Given the description of an element on the screen output the (x, y) to click on. 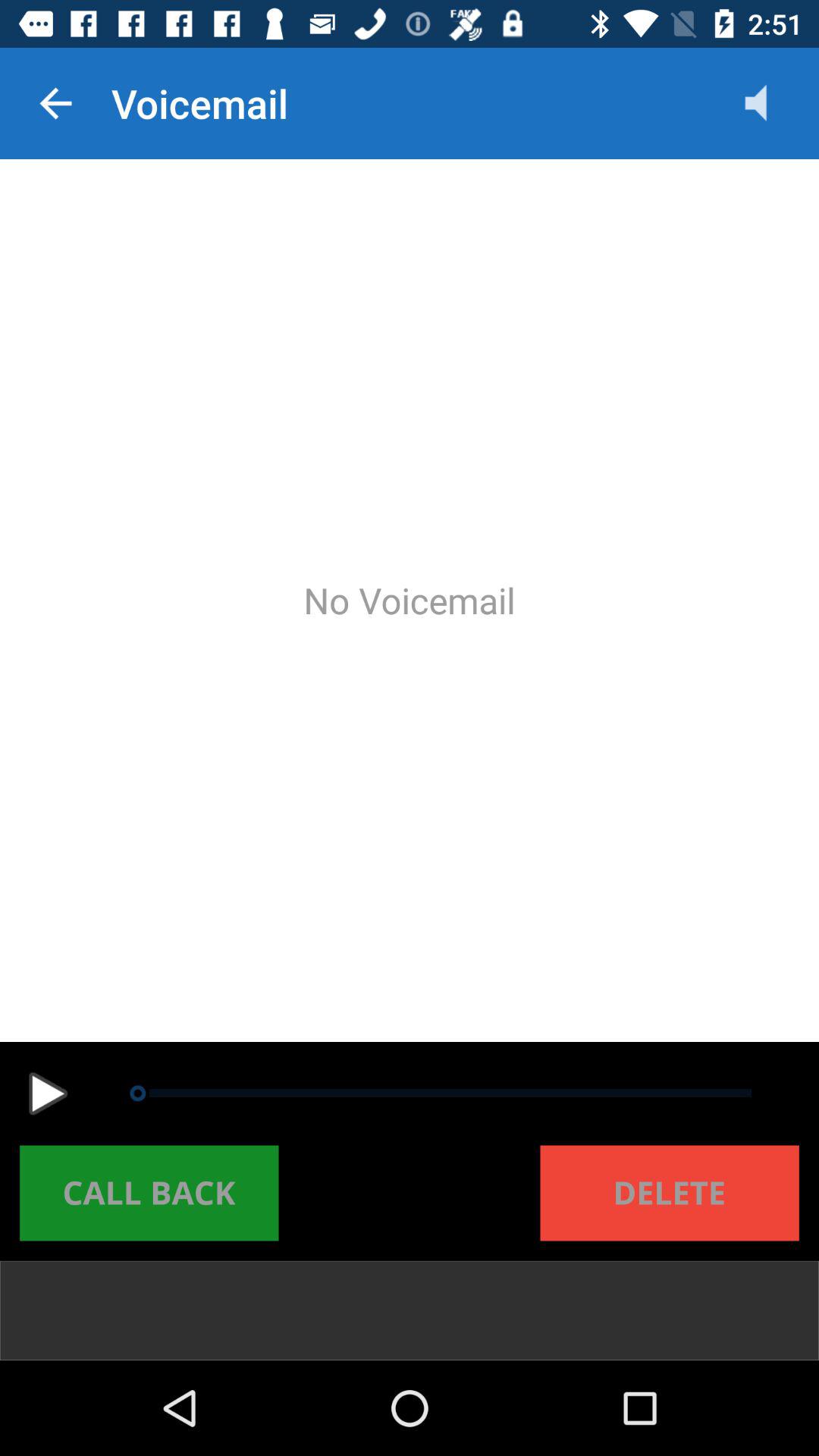
select the item above the call back (47, 1093)
